Given the description of an element on the screen output the (x, y) to click on. 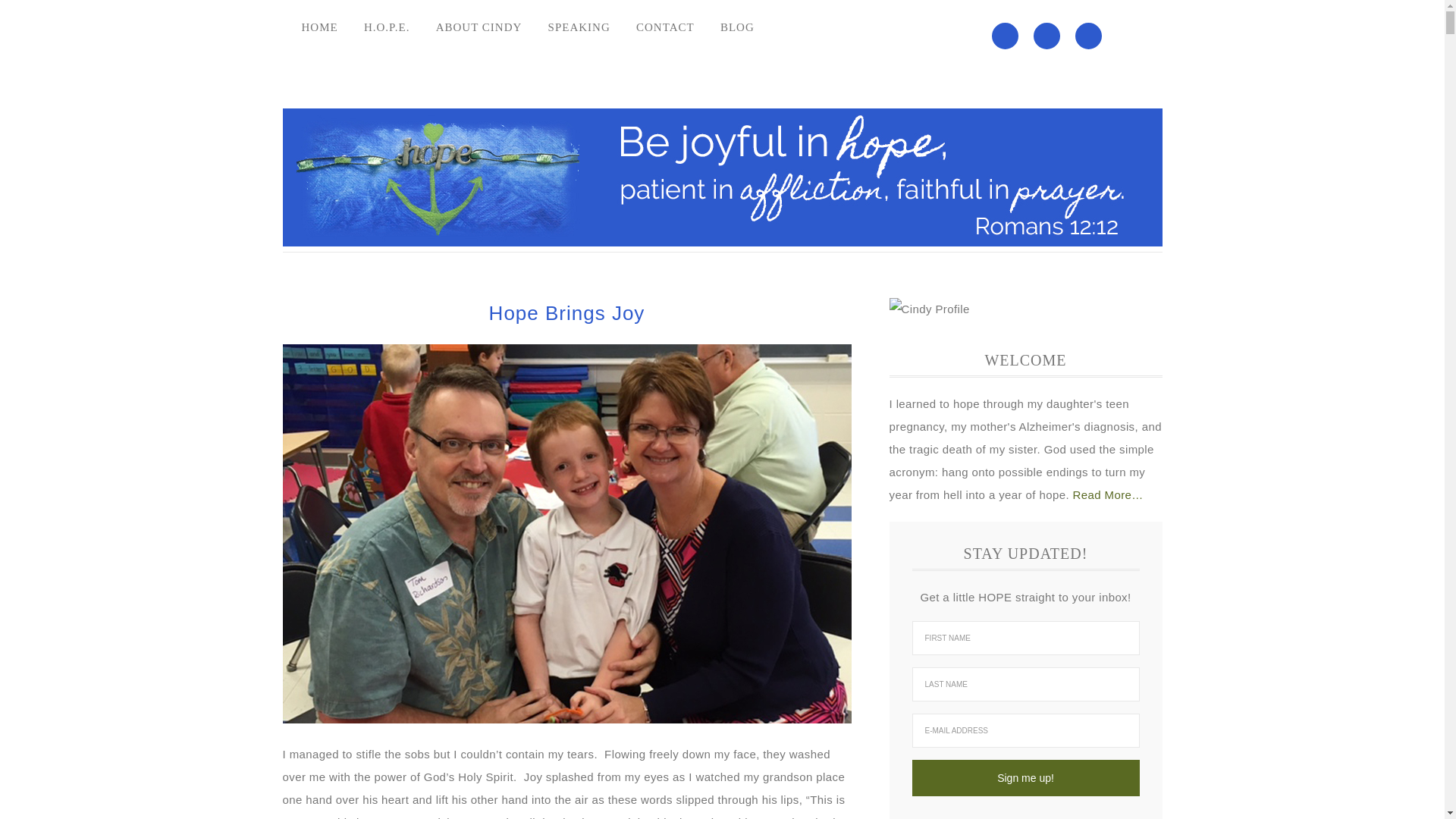
CONTACT (665, 27)
Sign me up! (1024, 778)
ABOUT CINDY (479, 27)
BLOG (737, 27)
H.O.P.E. (387, 27)
HOME (319, 27)
SPEAKING (579, 27)
